Given the description of an element on the screen output the (x, y) to click on. 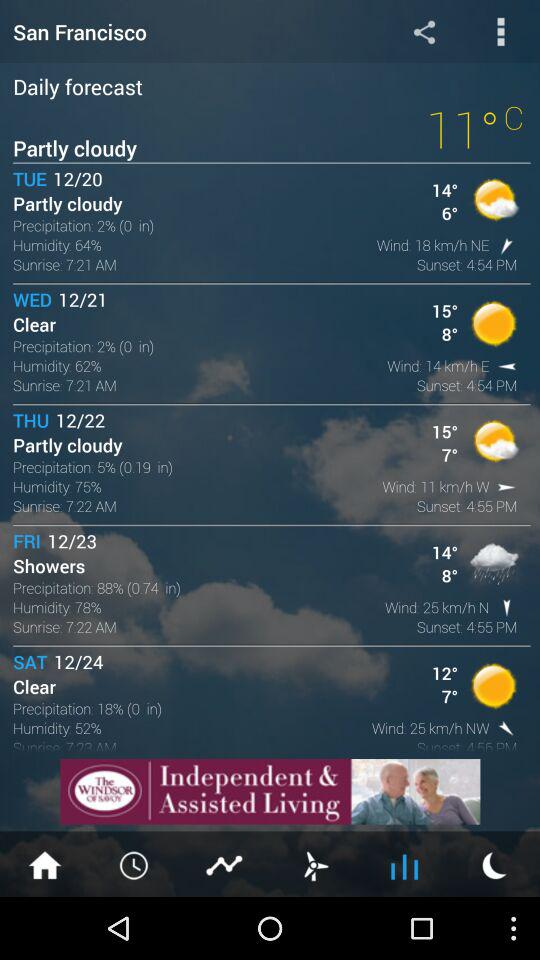
go to home screen (45, 864)
